Given the description of an element on the screen output the (x, y) to click on. 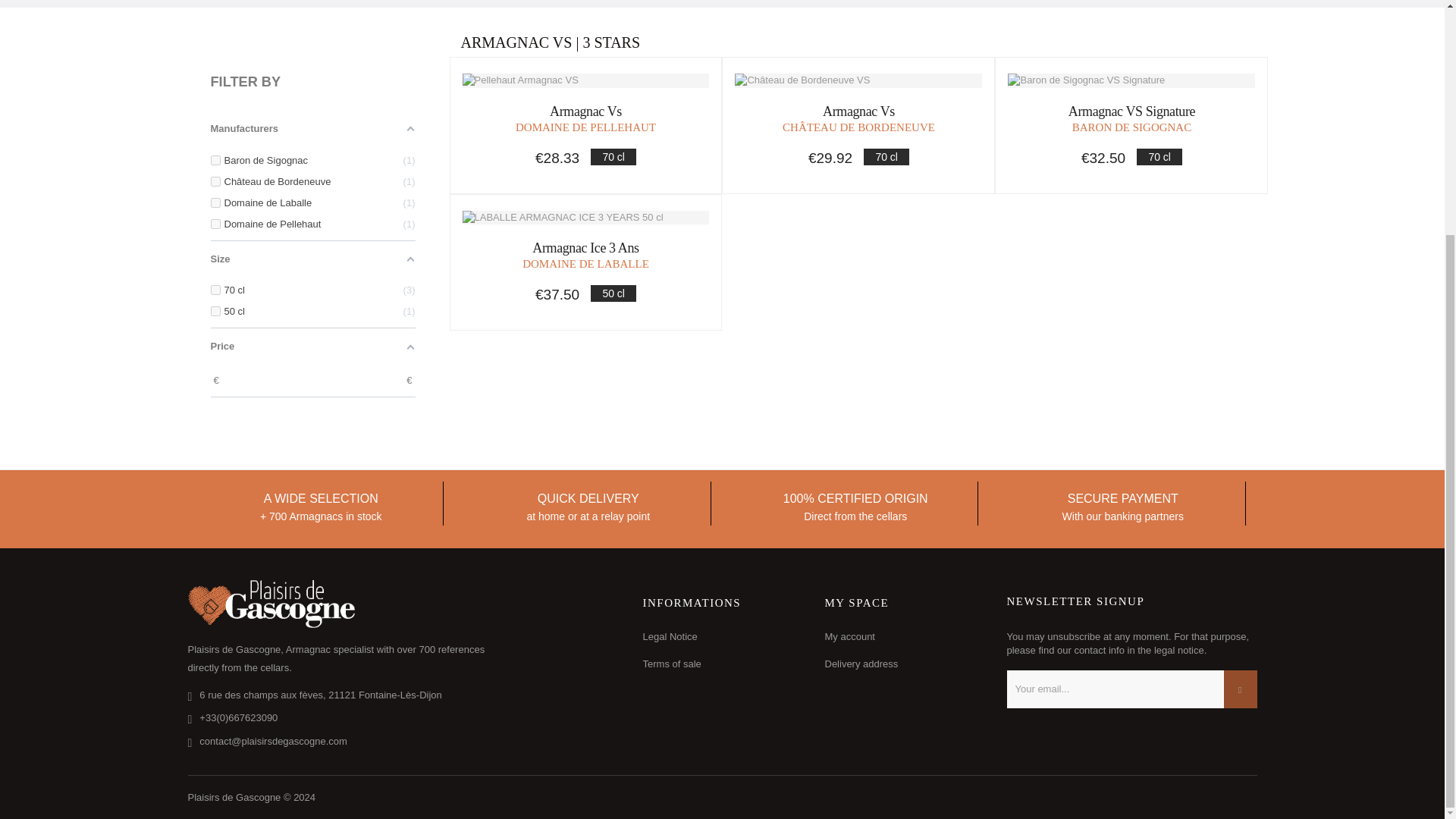
58 (216, 160)
8 (216, 224)
183 (216, 289)
44 (216, 203)
67 (216, 181)
1127 (216, 311)
